Given the description of an element on the screen output the (x, y) to click on. 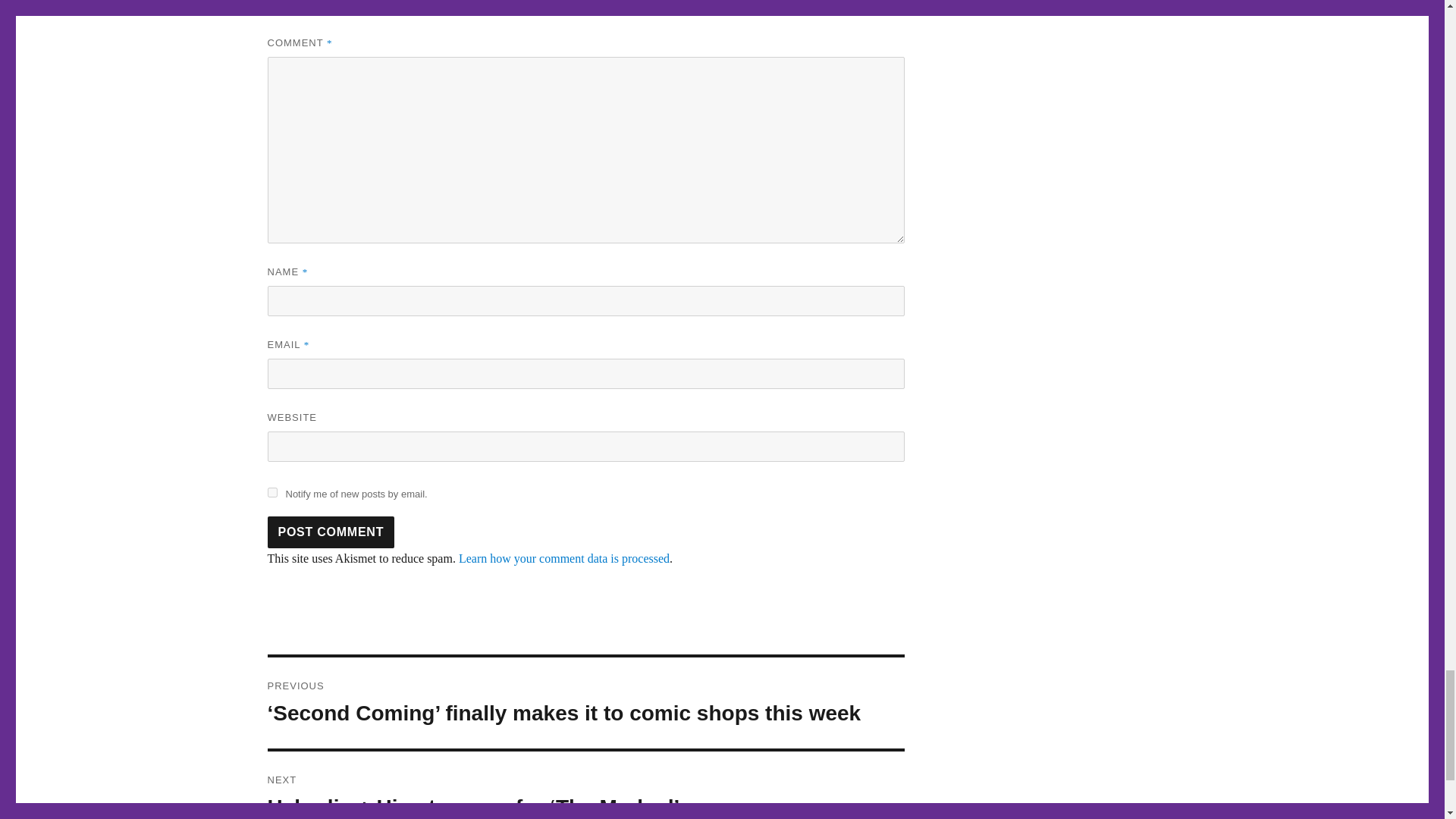
Post Comment (330, 531)
Post Comment (330, 531)
Learn how your comment data is processed (563, 558)
subscribe (271, 492)
